Given the description of an element on the screen output the (x, y) to click on. 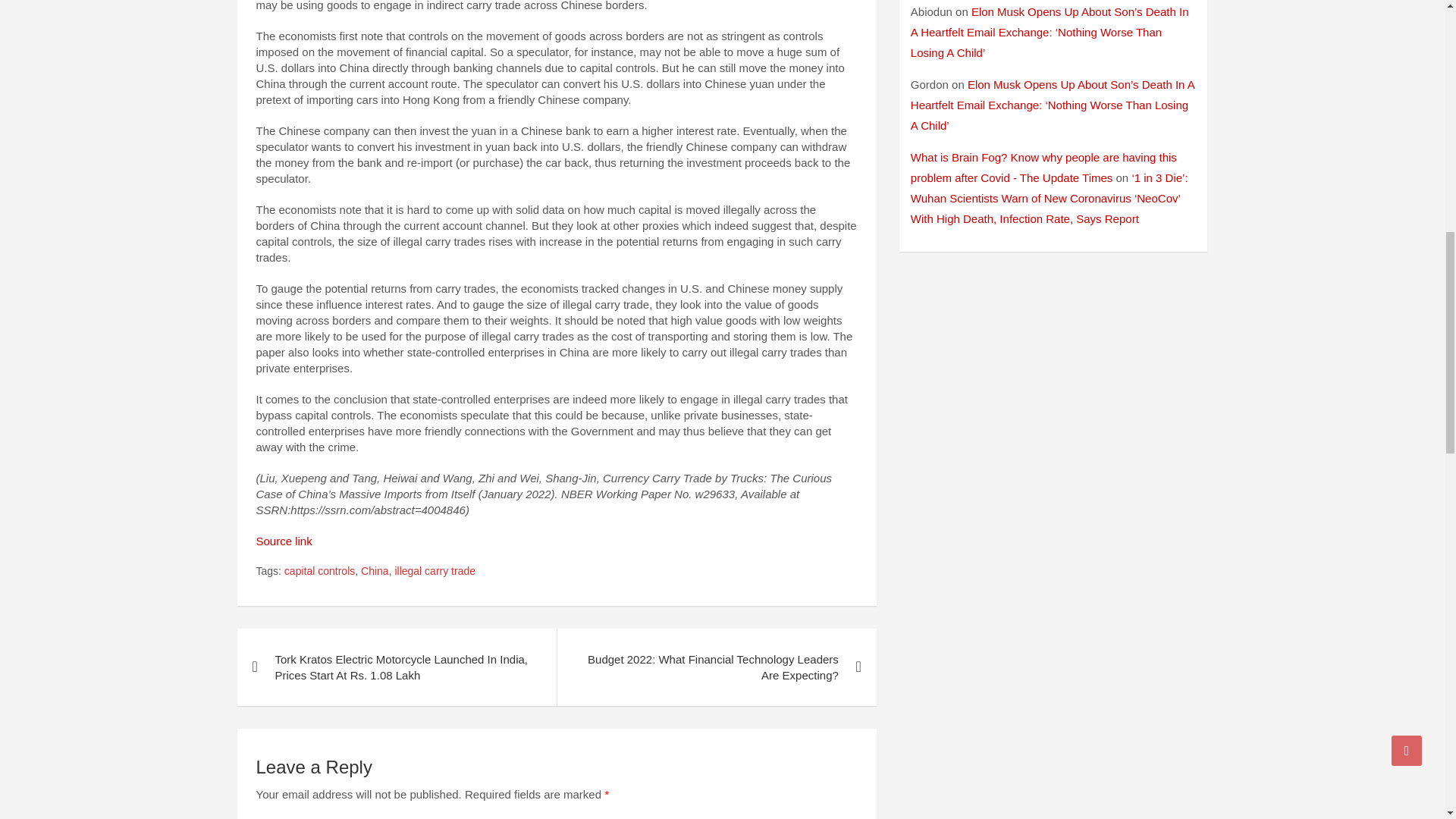
China (374, 571)
illegal carry trade (435, 571)
capital controls (319, 571)
Source link (284, 540)
